Given the description of an element on the screen output the (x, y) to click on. 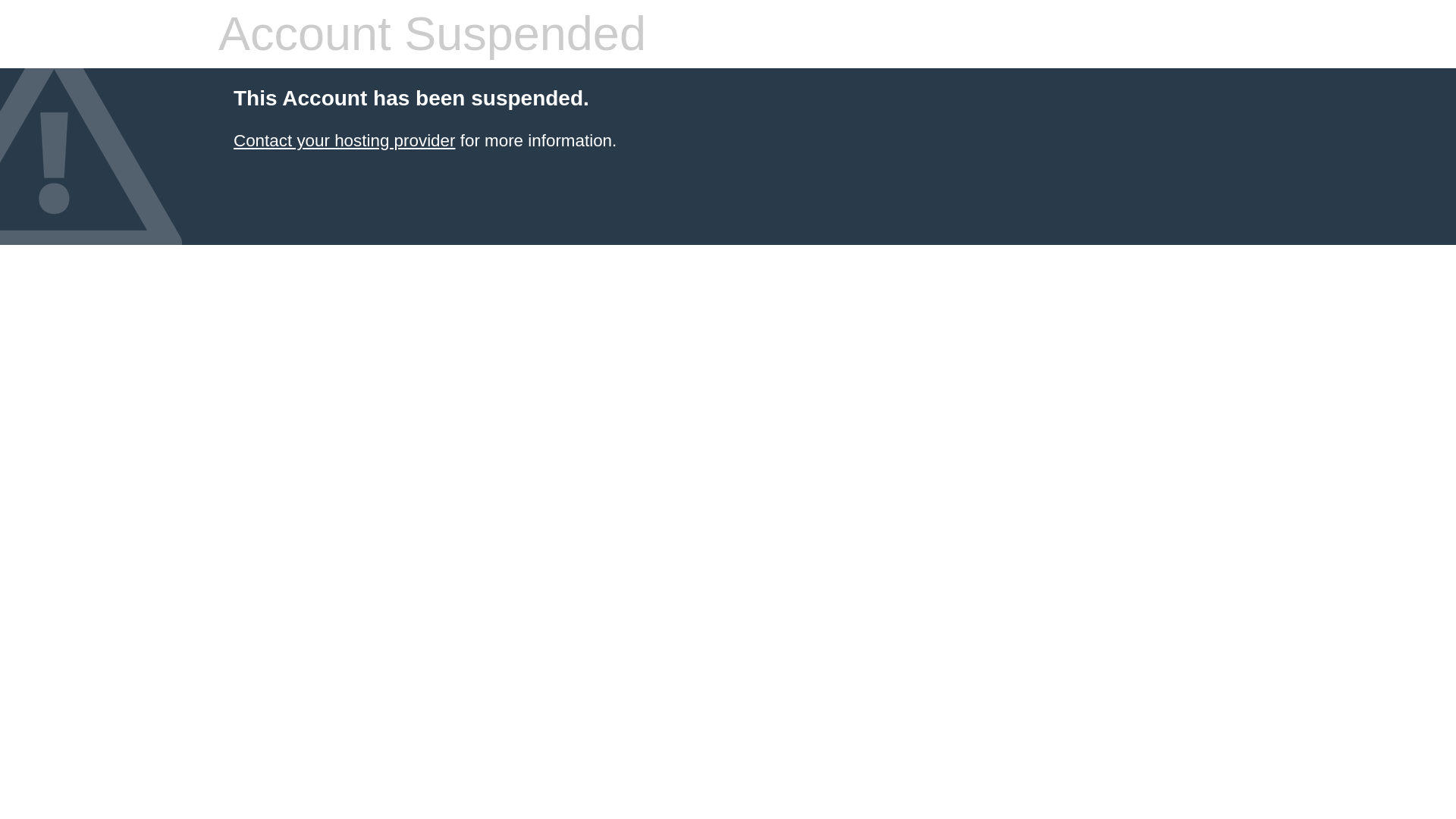
Contact your hosting provider (343, 140)
